Given the description of an element on the screen output the (x, y) to click on. 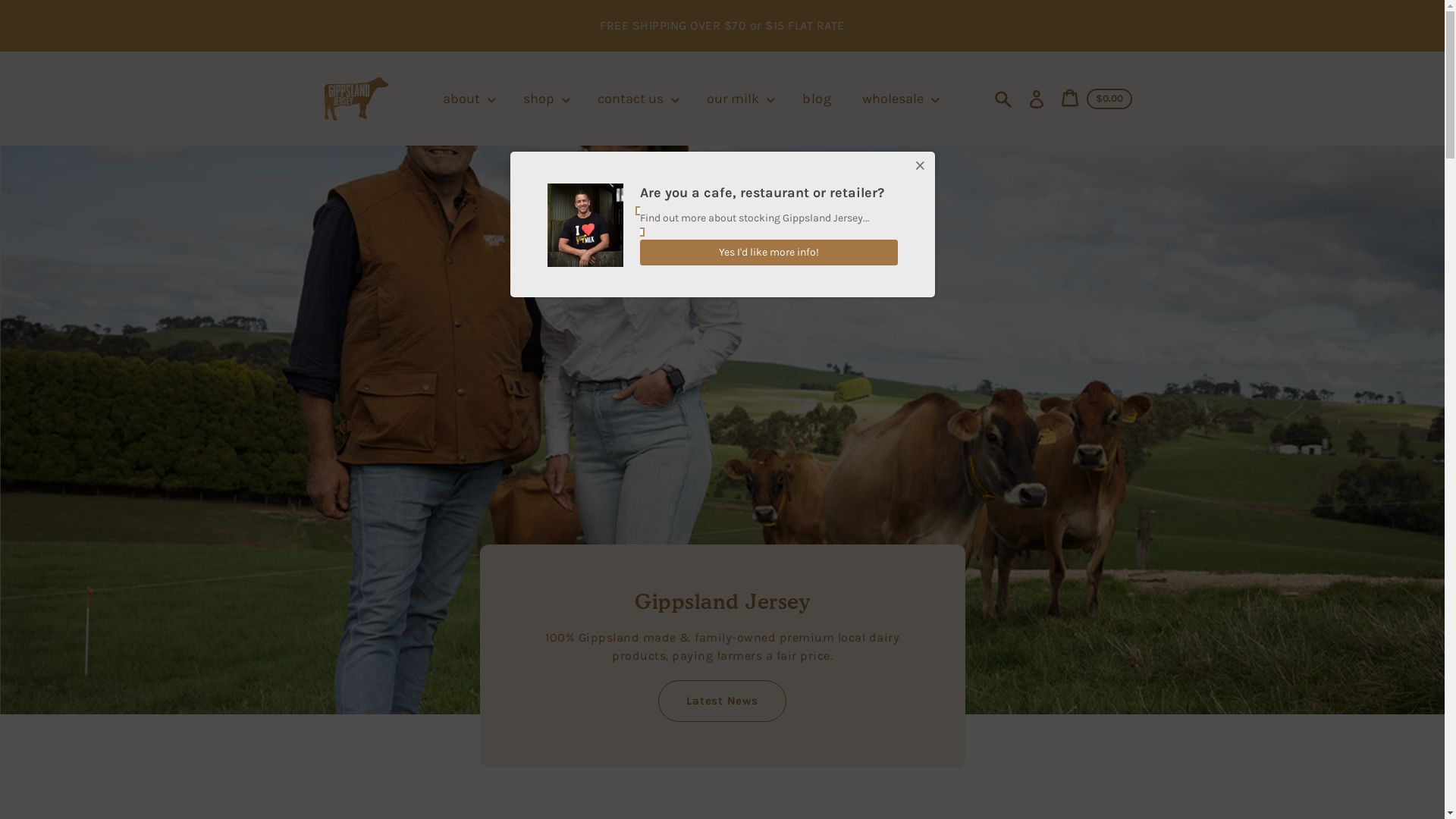
Cart
Cart price
$0.00 Element type: text (1095, 98)
wholesale Element type: text (900, 98)
blog Element type: text (818, 98)
our milk Element type: text (740, 98)
Latest News Element type: text (721, 700)
shop Element type: text (546, 98)
Log in Element type: text (1035, 98)
contact us Element type: text (638, 98)
Yes I'd like more info! Element type: text (768, 252)
about Element type: text (469, 98)
Search Element type: text (1002, 98)
